Given the description of an element on the screen output the (x, y) to click on. 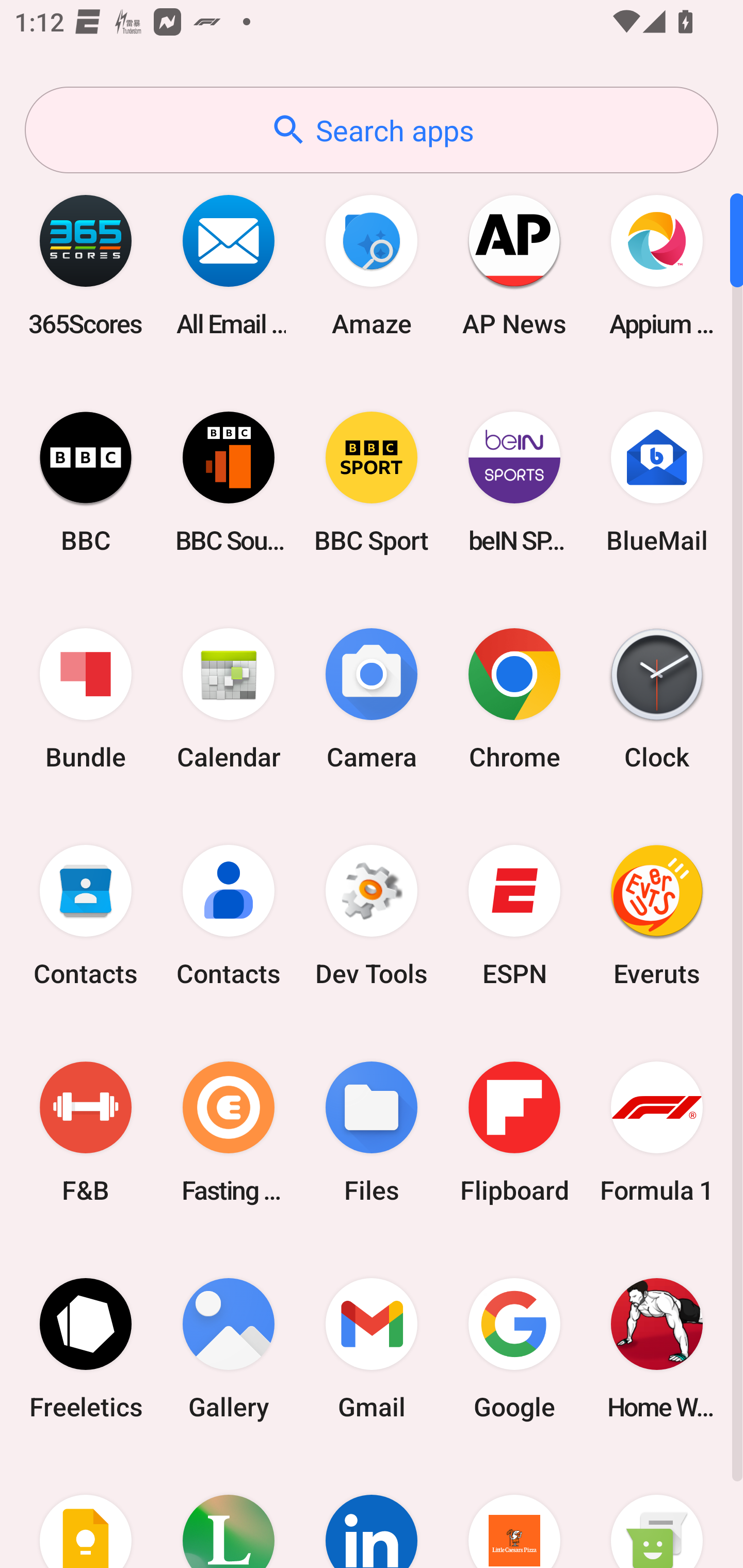
  Search apps (371, 130)
365Scores (85, 264)
All Email Connect (228, 264)
Amaze (371, 264)
AP News (514, 264)
Appium Settings (656, 264)
BBC (85, 482)
BBC Sounds (228, 482)
BBC Sport (371, 482)
beIN SPORTS (514, 482)
BlueMail (656, 482)
Bundle (85, 699)
Calendar (228, 699)
Camera (371, 699)
Chrome (514, 699)
Clock (656, 699)
Contacts (85, 915)
Contacts (228, 915)
Dev Tools (371, 915)
ESPN (514, 915)
Everuts (656, 915)
F&B (85, 1131)
Fasting Coach (228, 1131)
Files (371, 1131)
Flipboard (514, 1131)
Formula 1 (656, 1131)
Freeletics (85, 1348)
Gallery (228, 1348)
Gmail (371, 1348)
Google (514, 1348)
Home Workout (656, 1348)
